Given the description of an element on the screen output the (x, y) to click on. 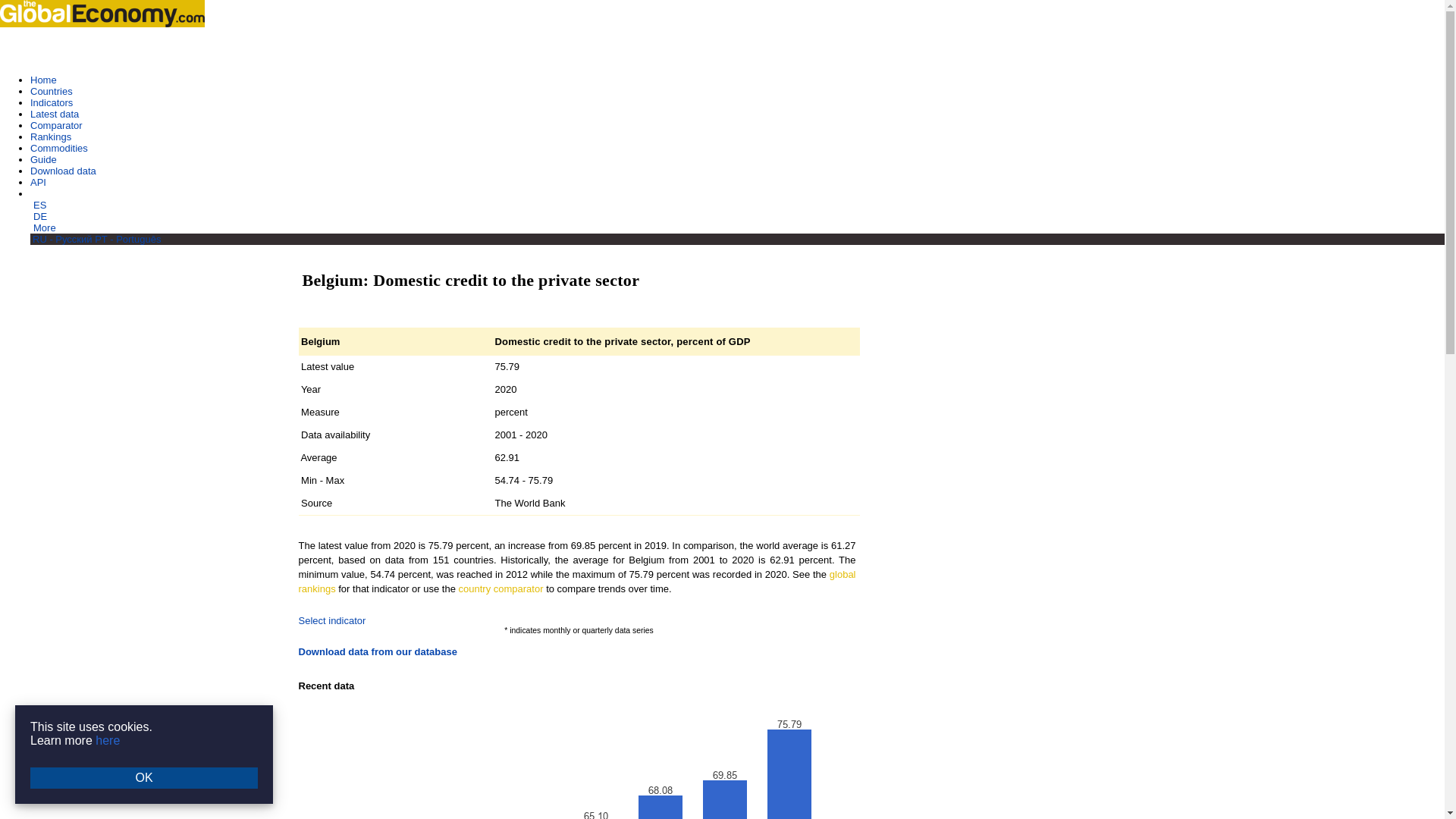
country comparator (500, 588)
Countries (51, 91)
API (38, 182)
DE (39, 215)
global rankings (577, 581)
EN (38, 193)
Guide (43, 159)
More (44, 227)
Download data from our database (377, 651)
The World Bank (529, 502)
Home (43, 79)
Latest data (54, 113)
Indicators (51, 102)
Commodities (58, 147)
ES (39, 204)
